Given the description of an element on the screen output the (x, y) to click on. 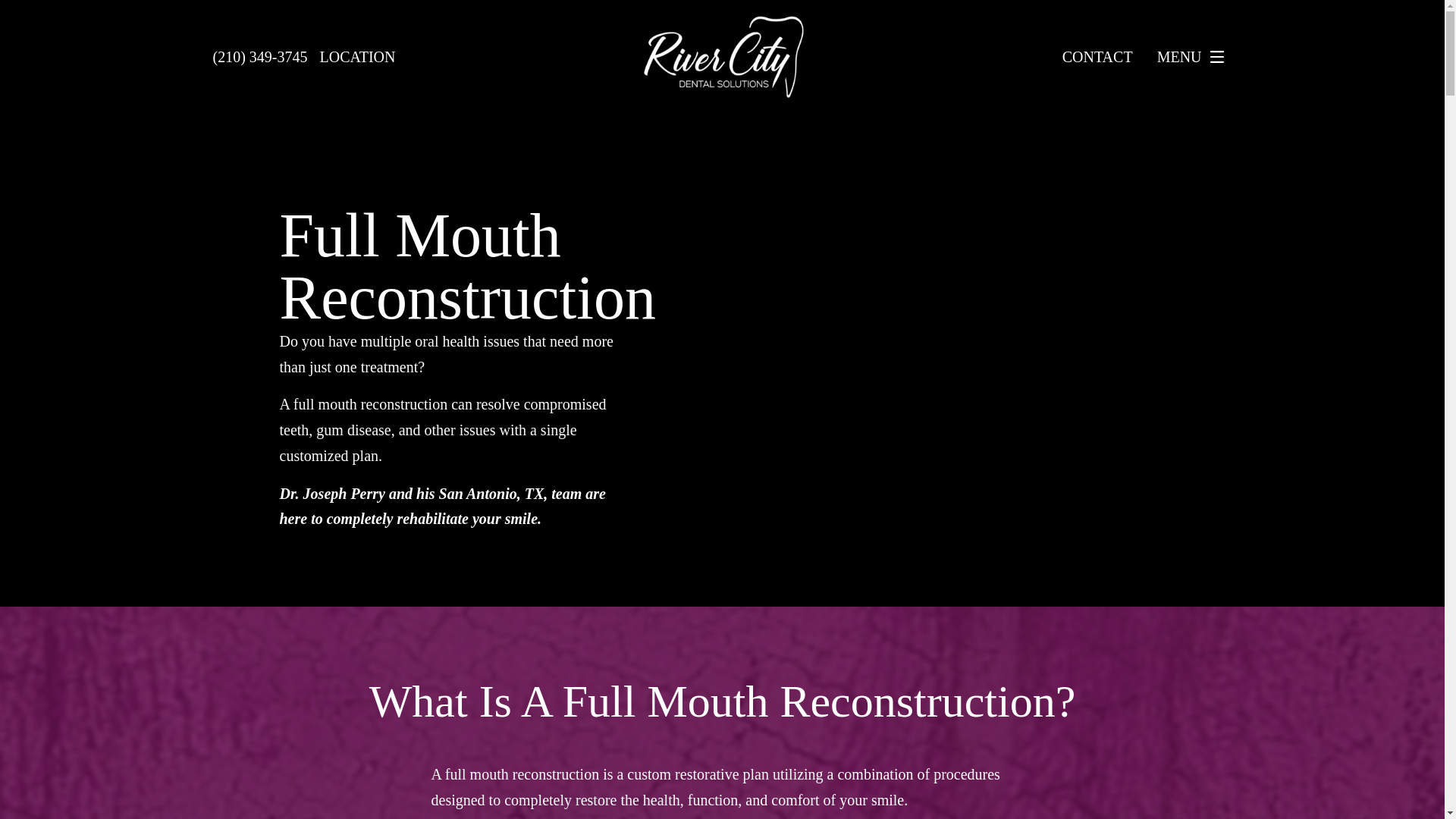
LOCATION (356, 56)
CONTACT (1097, 56)
MENU (1194, 56)
